Given the description of an element on the screen output the (x, y) to click on. 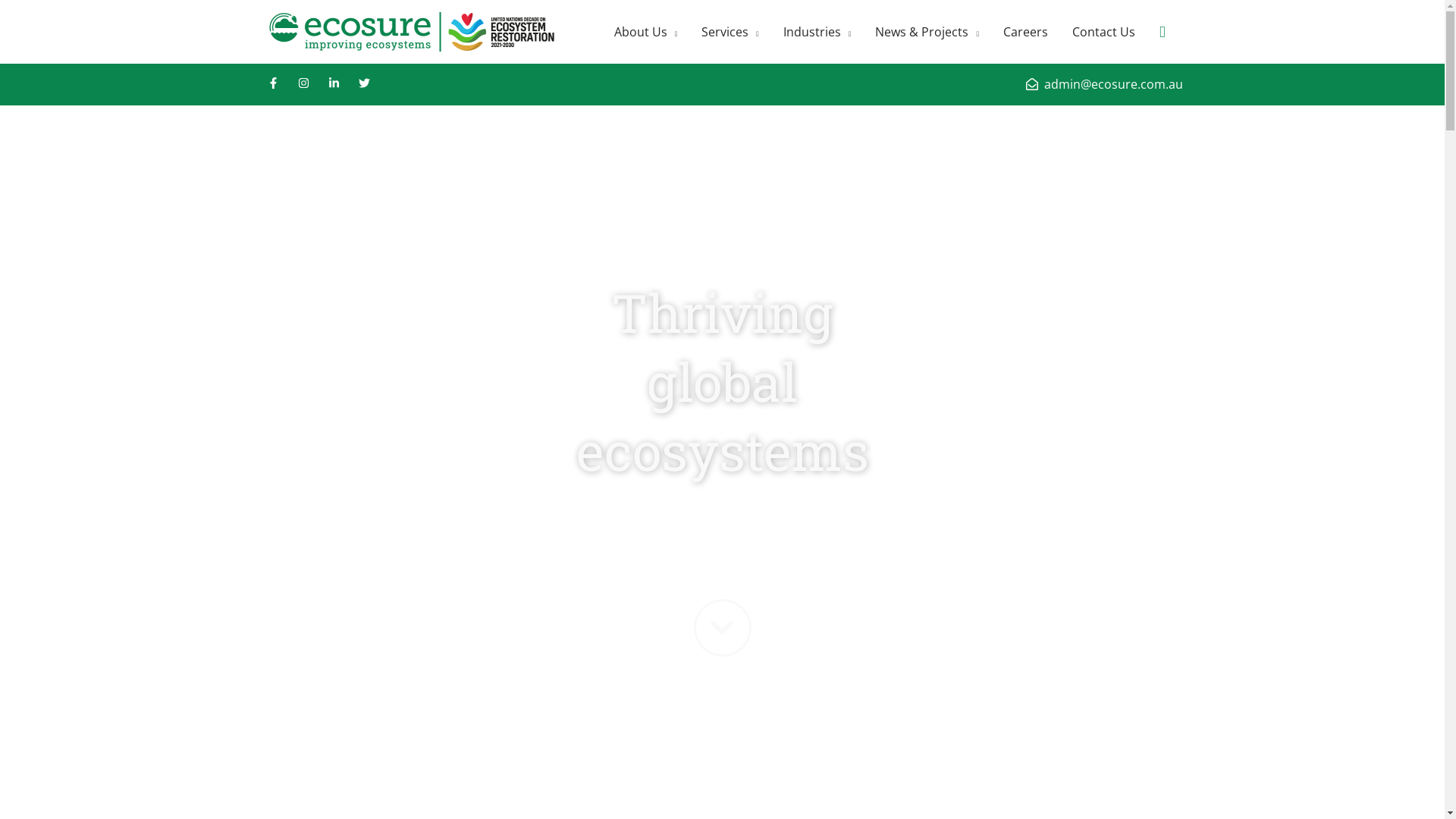
About Us Element type: text (646, 31)
Careers Element type: text (1025, 31)
Contact Us Element type: text (1103, 31)
 admin@ecosure.com.au Element type: text (1103, 83)
News & Projects Element type: text (926, 31)
Industries Element type: text (817, 31)
Services Element type: text (730, 31)
Search Element type: text (1162, 31)
